Given the description of an element on the screen output the (x, y) to click on. 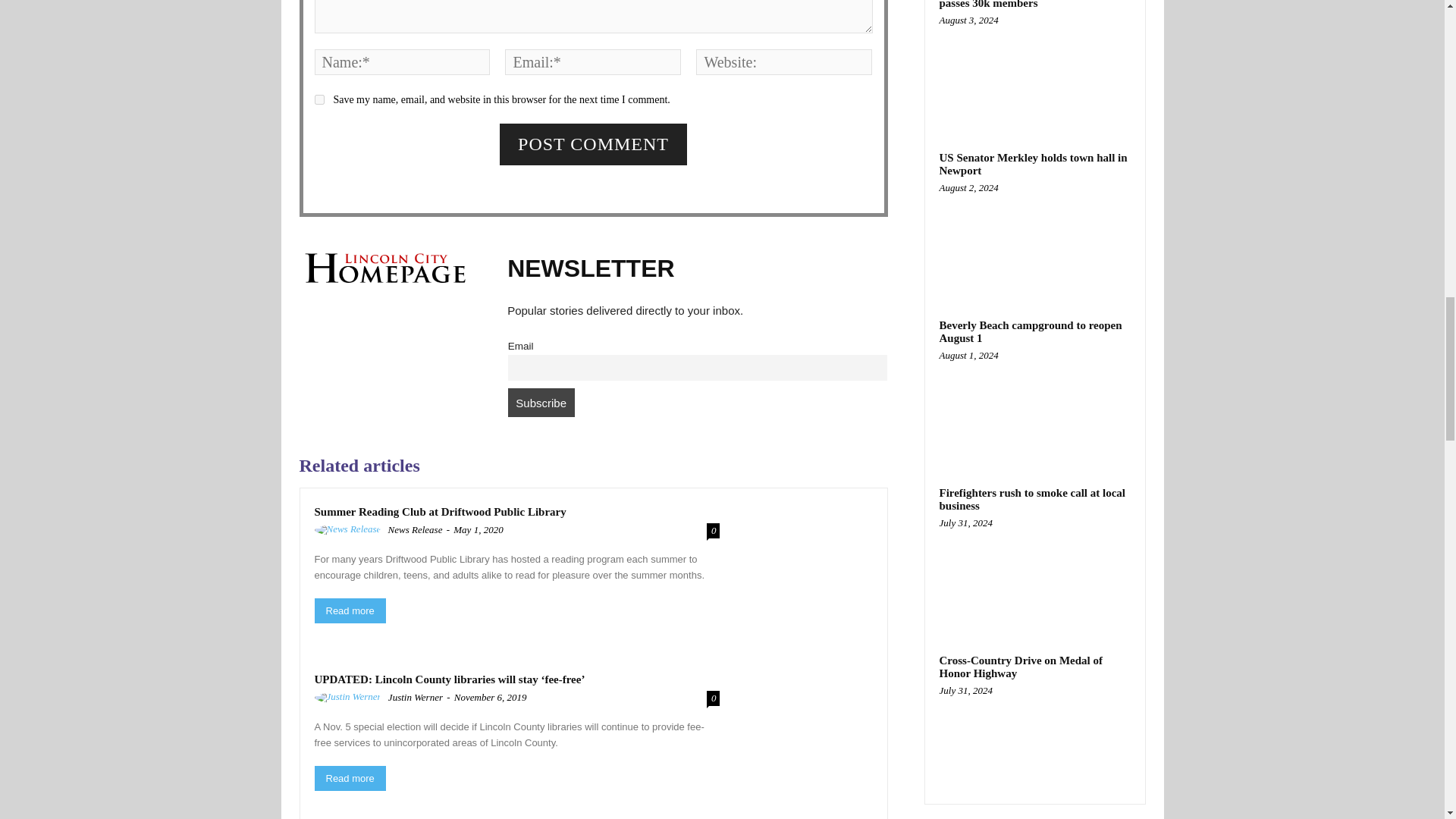
Subscribe (541, 402)
Post Comment (593, 144)
yes (318, 99)
